Given the description of an element on the screen output the (x, y) to click on. 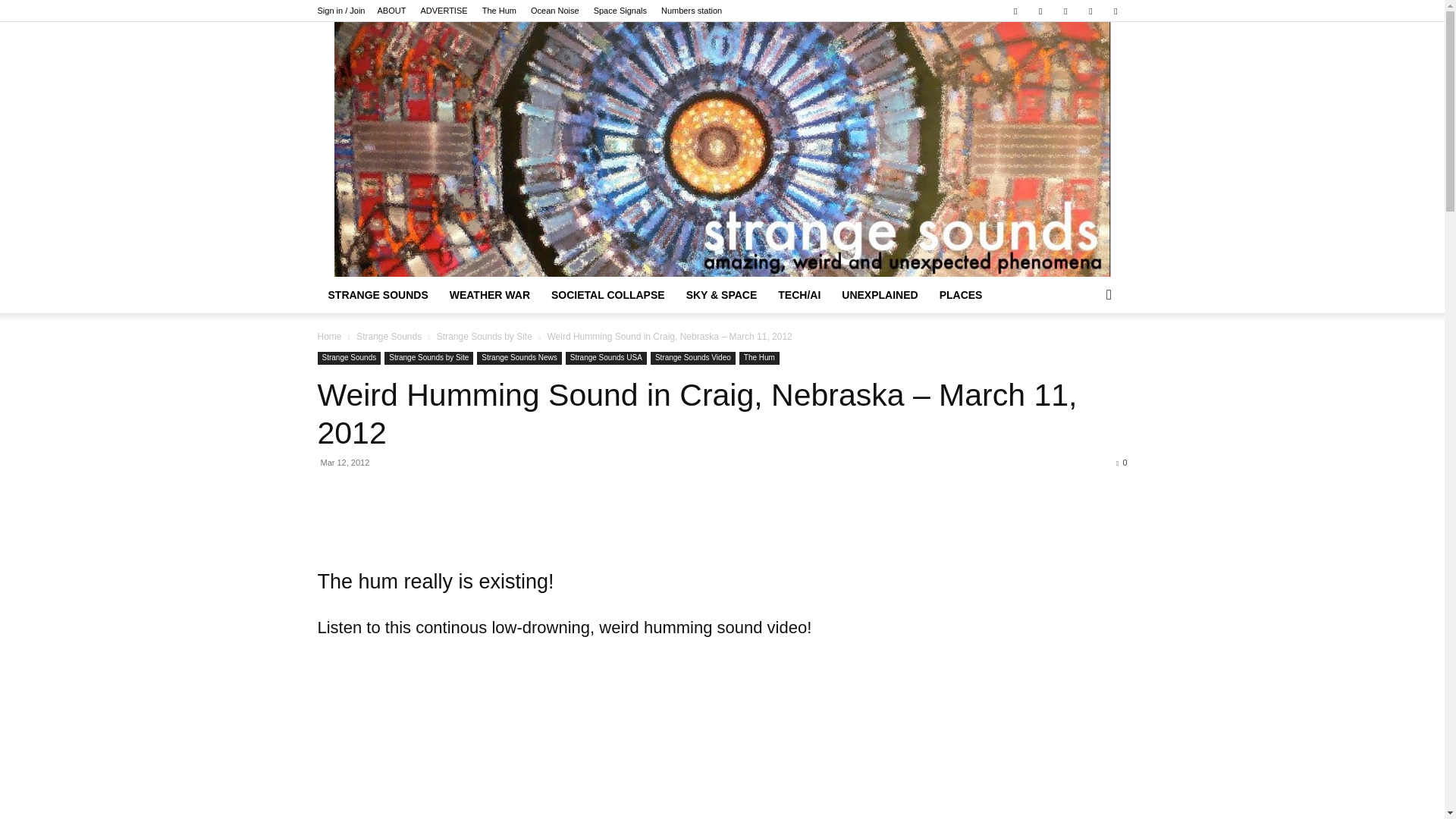
ADVERTISE (443, 10)
Numbers station (691, 10)
ADVERTISE ON STRANGE SOUNDS (443, 10)
ABOUT (391, 10)
Unexplained sounds of the deep ocean (555, 10)
The Hum (498, 10)
Paypal (1040, 10)
Facebook (1015, 10)
About Strange Sounds (391, 10)
Space Signals (620, 10)
Ocean Noise (555, 10)
The Hum mysterious phenomenon (498, 10)
